Given the description of an element on the screen output the (x, y) to click on. 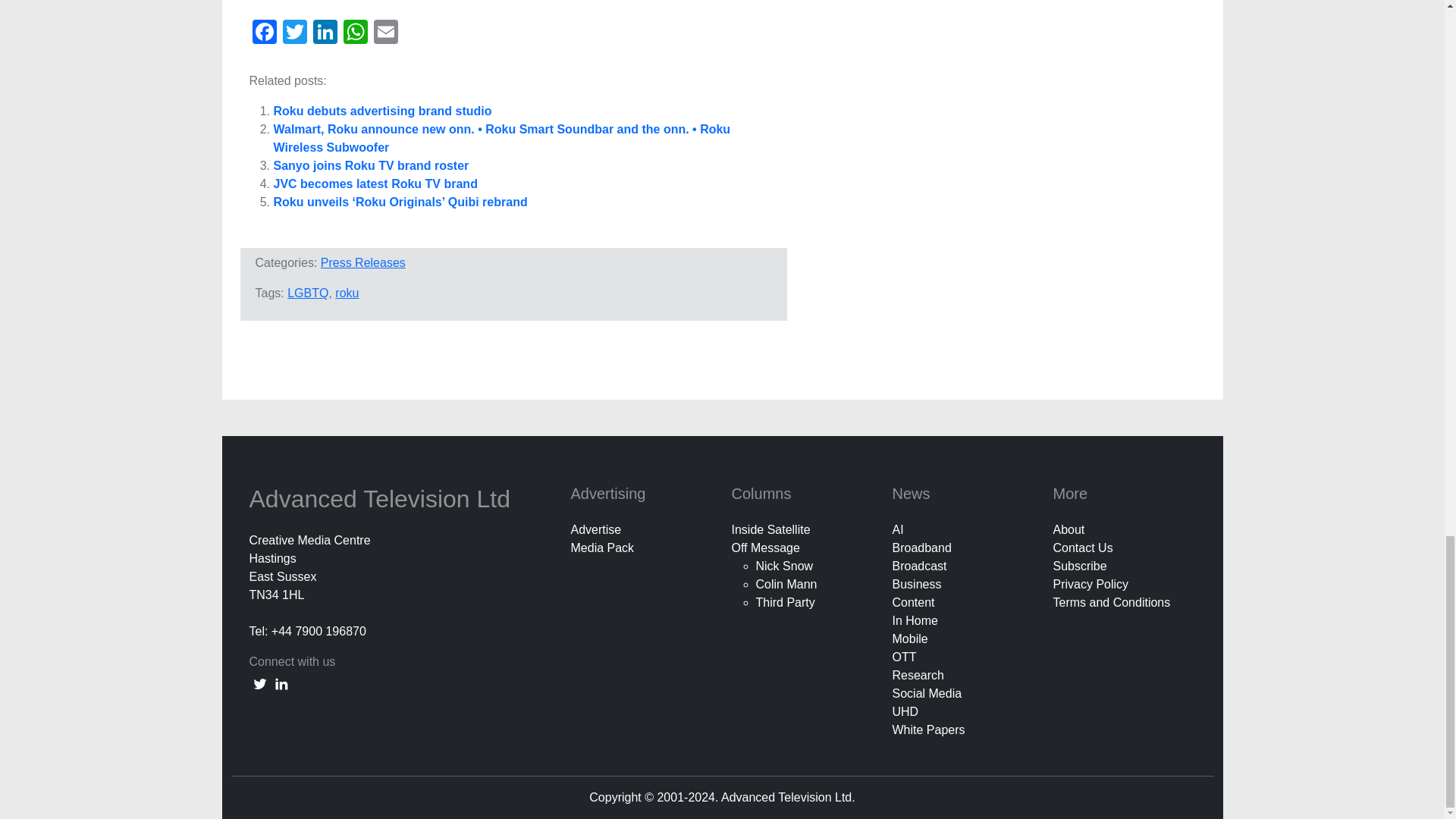
Facebook (263, 33)
Press Releases (363, 262)
Sanyo joins Roku TV brand roster (370, 164)
Advertise (595, 529)
Roku debuts advertising brand studio (382, 110)
roku (346, 292)
WhatsApp (354, 33)
Media Pack (601, 547)
LinkedIn (323, 33)
LinkedIn (323, 33)
LGBTQ (307, 292)
Email (384, 33)
Twitter (293, 33)
Facebook (263, 33)
Sanyo joins Roku TV brand roster (370, 164)
